Given the description of an element on the screen output the (x, y) to click on. 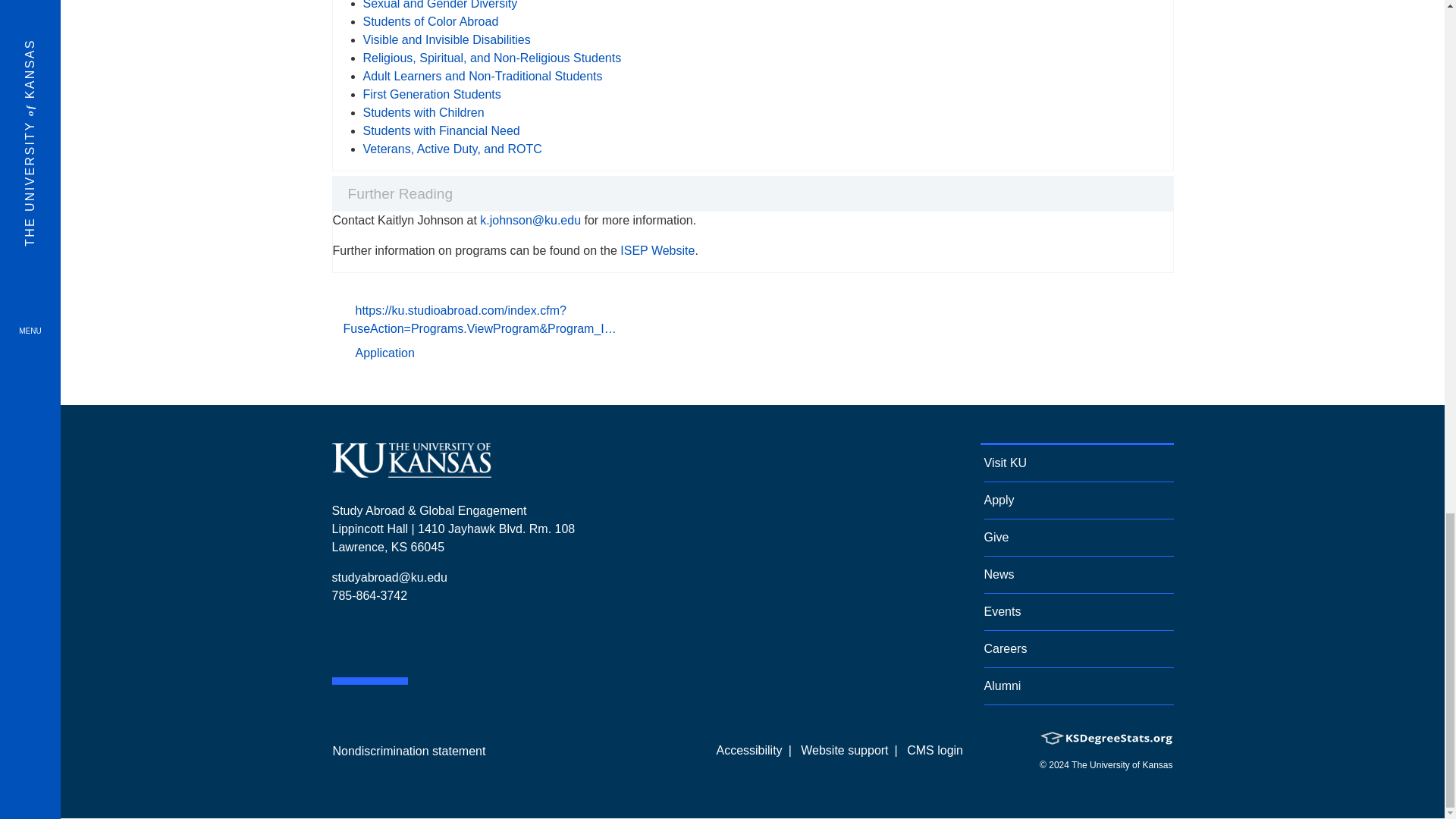
The University of Kansas (411, 471)
